Given the description of an element on the screen output the (x, y) to click on. 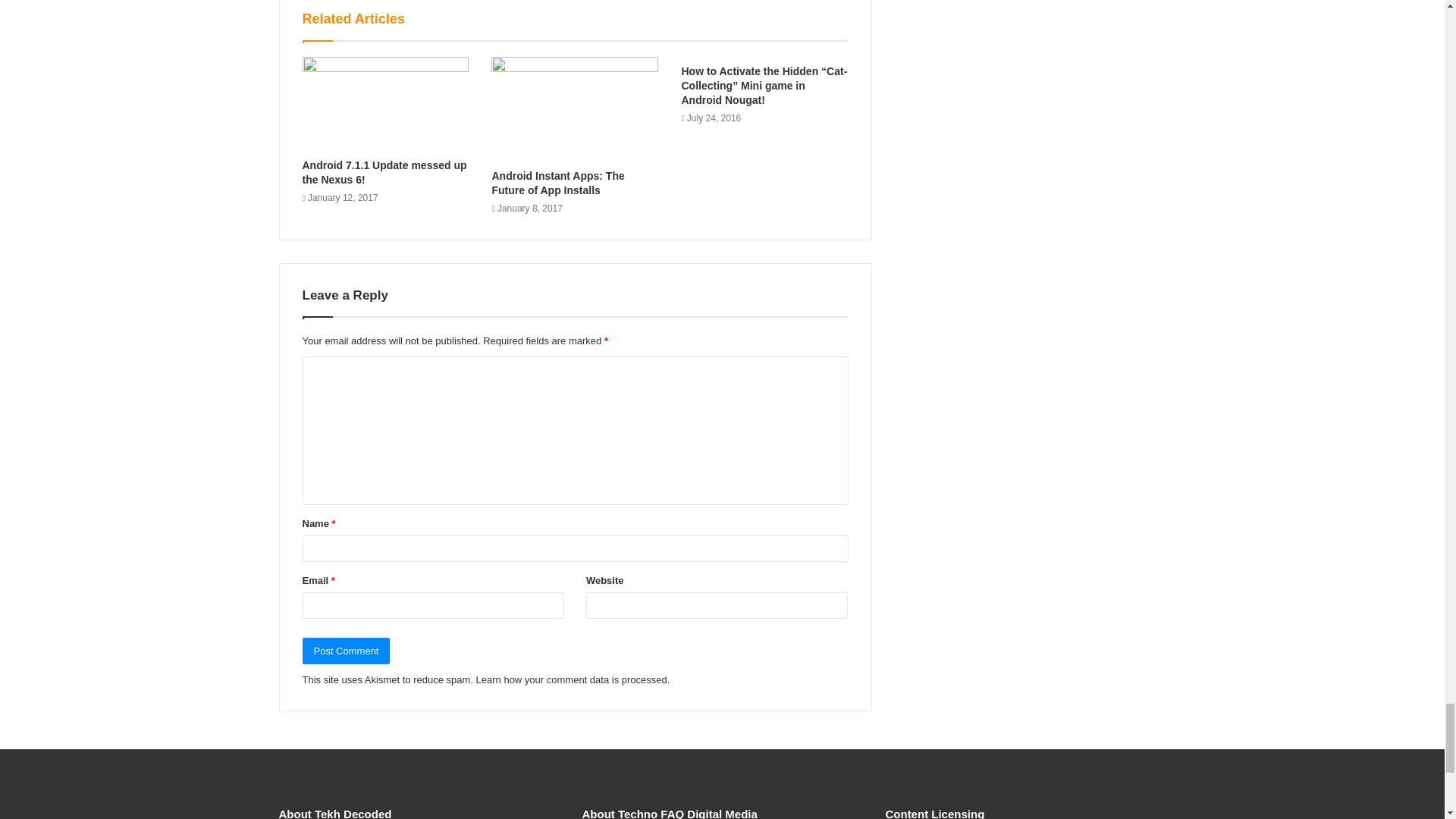
Post Comment (345, 651)
